Given the description of an element on the screen output the (x, y) to click on. 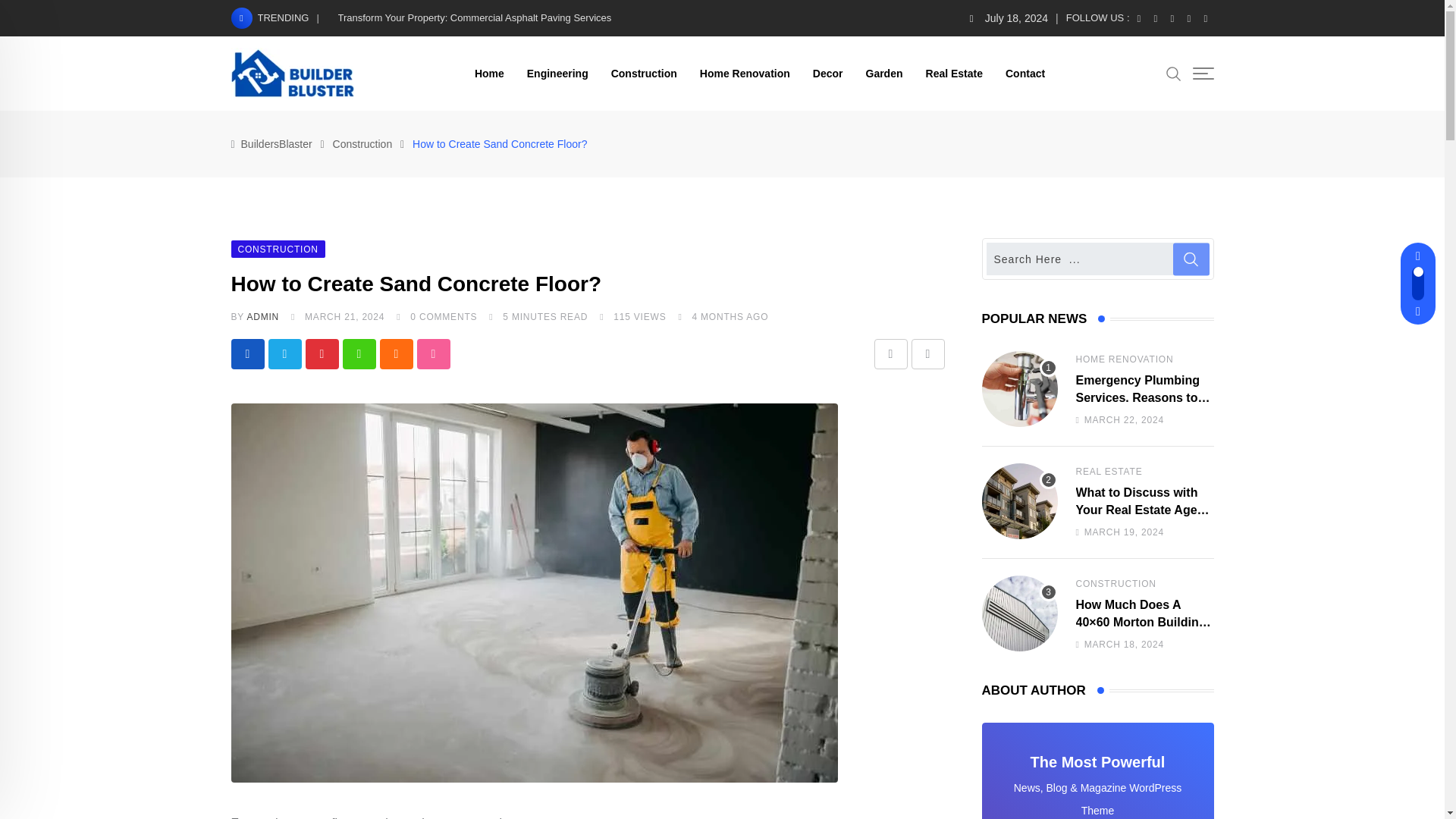
Go to BuildersBlaster. (277, 143)
Go to the Construction category archives. (363, 143)
Transform Your Property: Commercial Asphalt Paving Services (474, 17)
Home Renovation (745, 73)
Construction (643, 73)
Engineering (557, 73)
Posts by admin (262, 317)
Real Estate (954, 73)
Search (1173, 72)
